Given the description of an element on the screen output the (x, y) to click on. 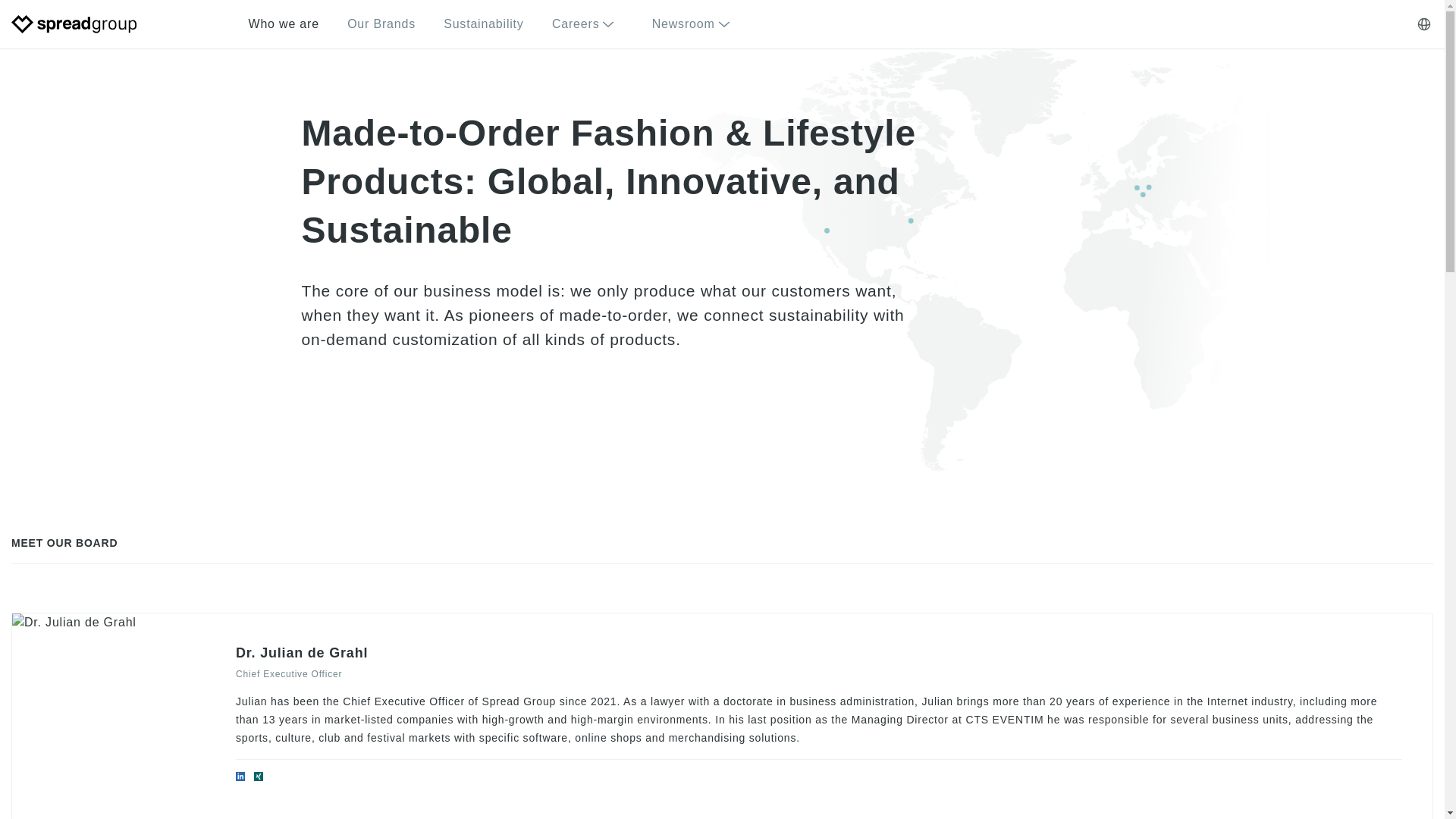
Sustainability (483, 24)
Our Brands (380, 24)
Spreadgroup (73, 24)
Newsroom (695, 24)
Careers (587, 24)
Who we are (283, 24)
